Given the description of an element on the screen output the (x, y) to click on. 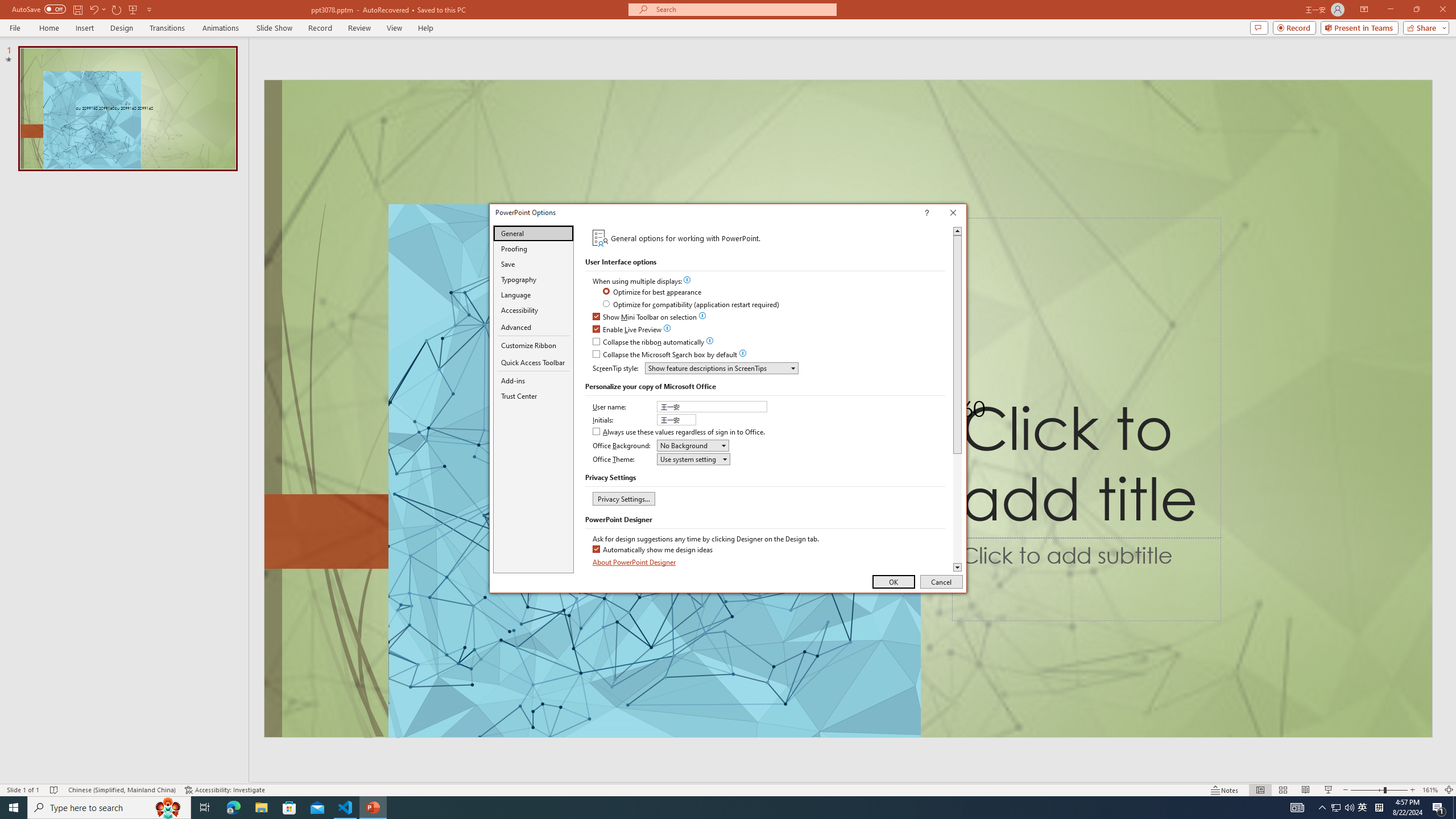
Collapse the Microsoft Search box by default (665, 354)
Enable Live Preview (627, 330)
Optimize for compatibility (application restart required) (691, 304)
ScreenTip style (721, 367)
Advanced (533, 327)
Notes  (1225, 790)
Proofing (533, 248)
Microsoft Store (289, 807)
Privacy Settings... (623, 498)
Show desktop (1335, 807)
